Given the description of an element on the screen output the (x, y) to click on. 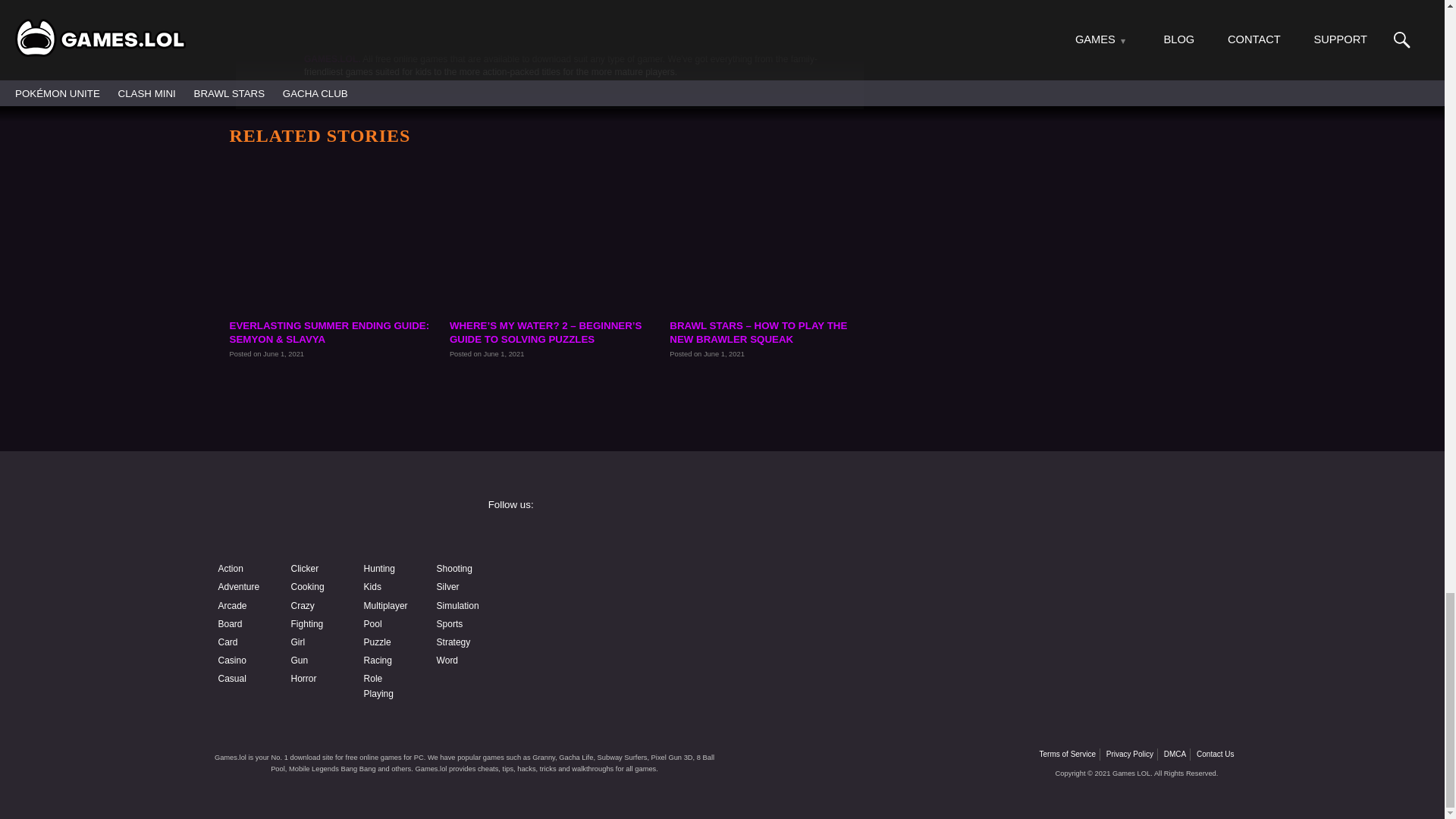
Games.lol free game download website logo (319, 519)
YouTube (603, 579)
Twitter (1073, 539)
Facebook (603, 539)
Instagram (838, 539)
Discord (838, 579)
Pinterest (1073, 579)
Reddit (603, 619)
